Given the description of an element on the screen output the (x, y) to click on. 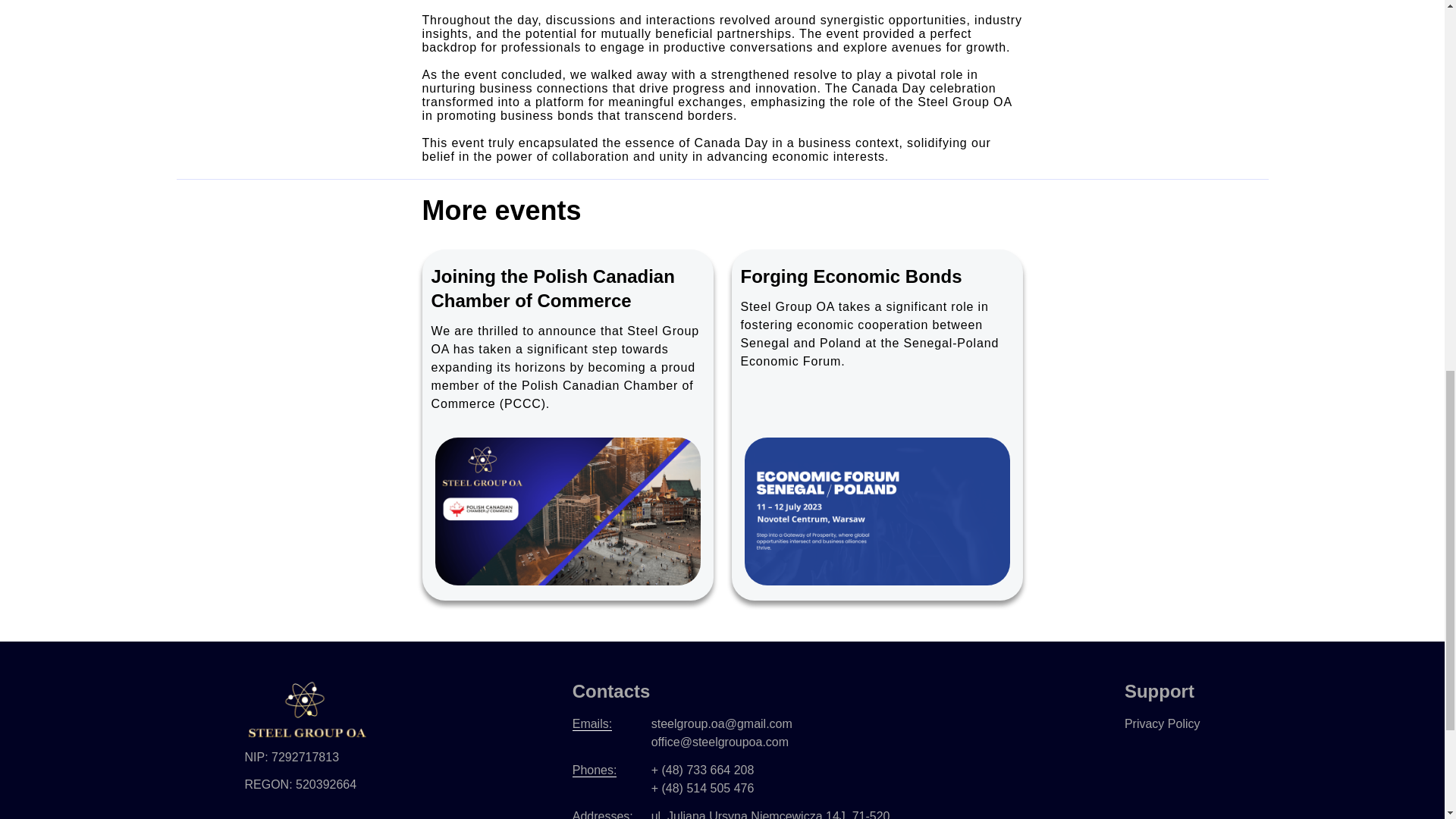
Privacy Policy (1161, 723)
